Given the description of an element on the screen output the (x, y) to click on. 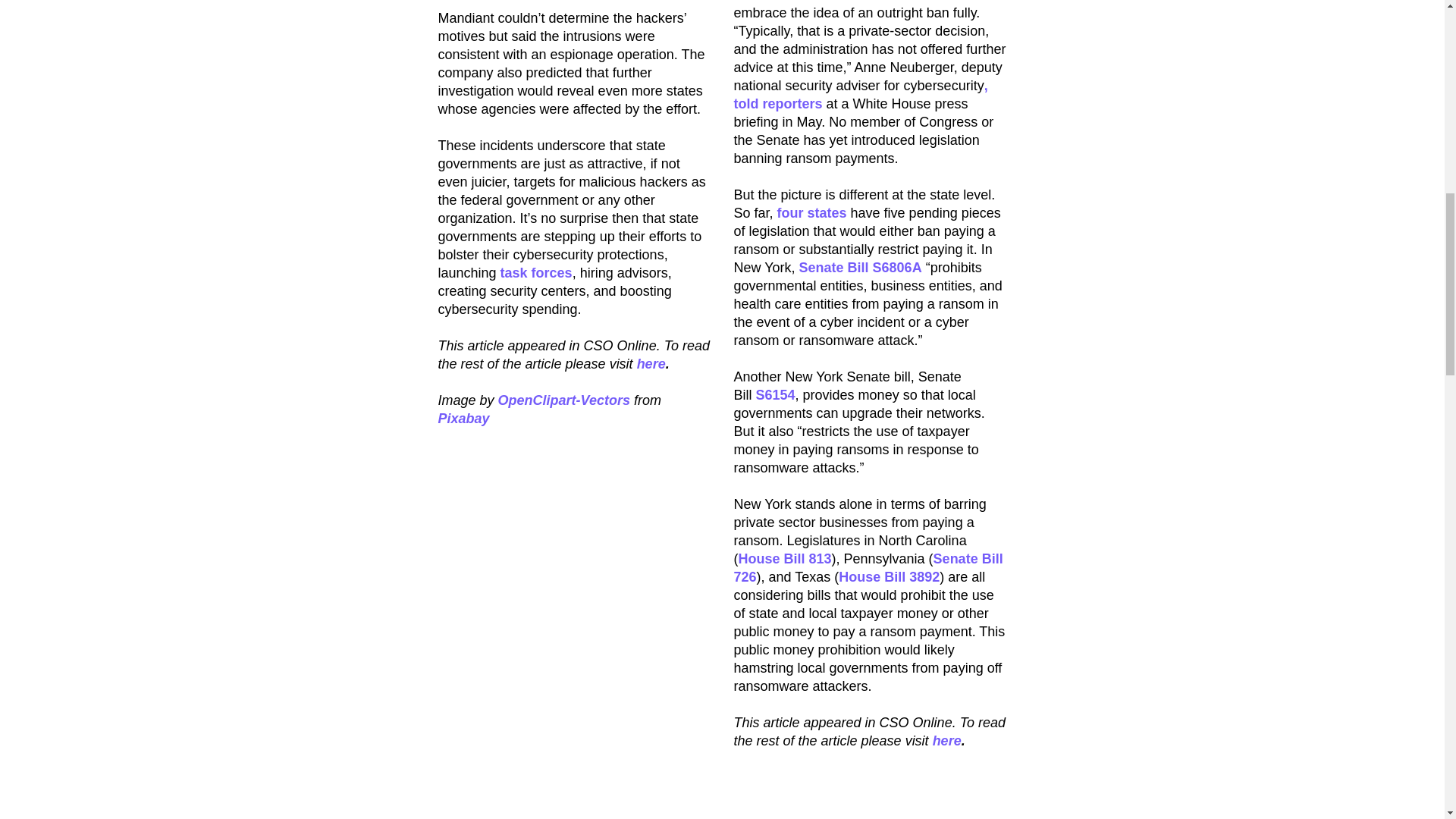
S6154 (774, 394)
four states (812, 212)
Senate Bill S6806A (860, 267)
Pixabay (463, 418)
Senate Bill 726 (868, 567)
here (651, 363)
, told reporters (860, 94)
task forces (536, 272)
OpenClipart-Vectors (563, 400)
here (946, 740)
